Given the description of an element on the screen output the (x, y) to click on. 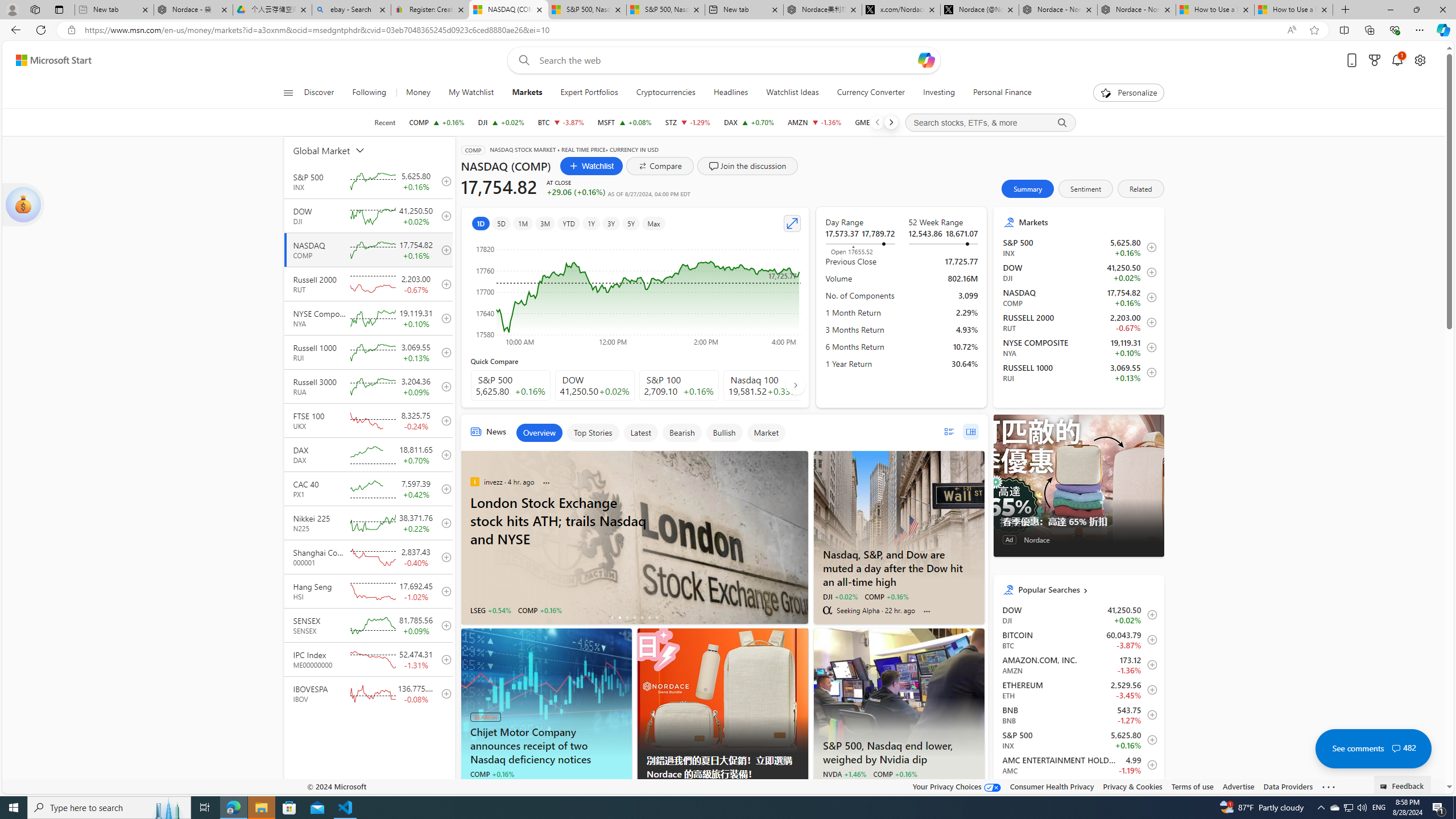
AMZN AMAZON.COM, INC. decrease 173.12 -2.38 -1.36% (814, 122)
Investing (939, 92)
Overview (538, 432)
Personal Finance (1002, 92)
S&P 500, Nasdaq end lower, weighed by Nvidia dip | Watch (665, 9)
